Given the description of an element on the screen output the (x, y) to click on. 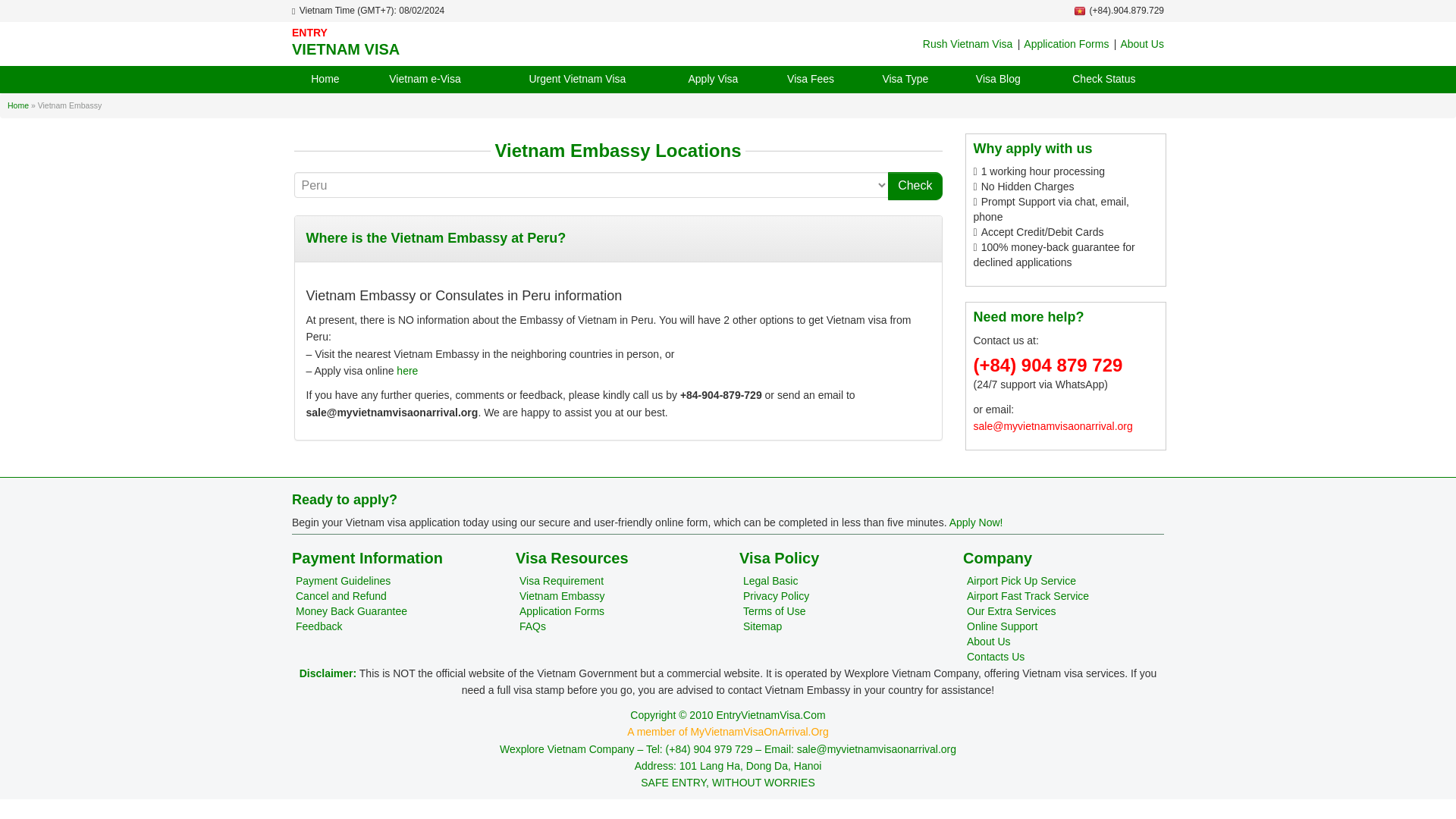
Apply Visa (406, 370)
Rush Vietnam Visa (968, 43)
Urgent Vietnam Visa (577, 79)
Privacy Policy (775, 595)
Visa Requirement (561, 580)
Visa Blog (997, 79)
Apply Visa (712, 79)
Application Forms (561, 611)
Payment Guidelines (342, 580)
Vietnam Embassy (562, 595)
Home (18, 104)
Money Back Guarantee (351, 611)
Vietnam Visa Online (429, 41)
About Us (1141, 43)
Visa Type (905, 79)
